Given the description of an element on the screen output the (x, y) to click on. 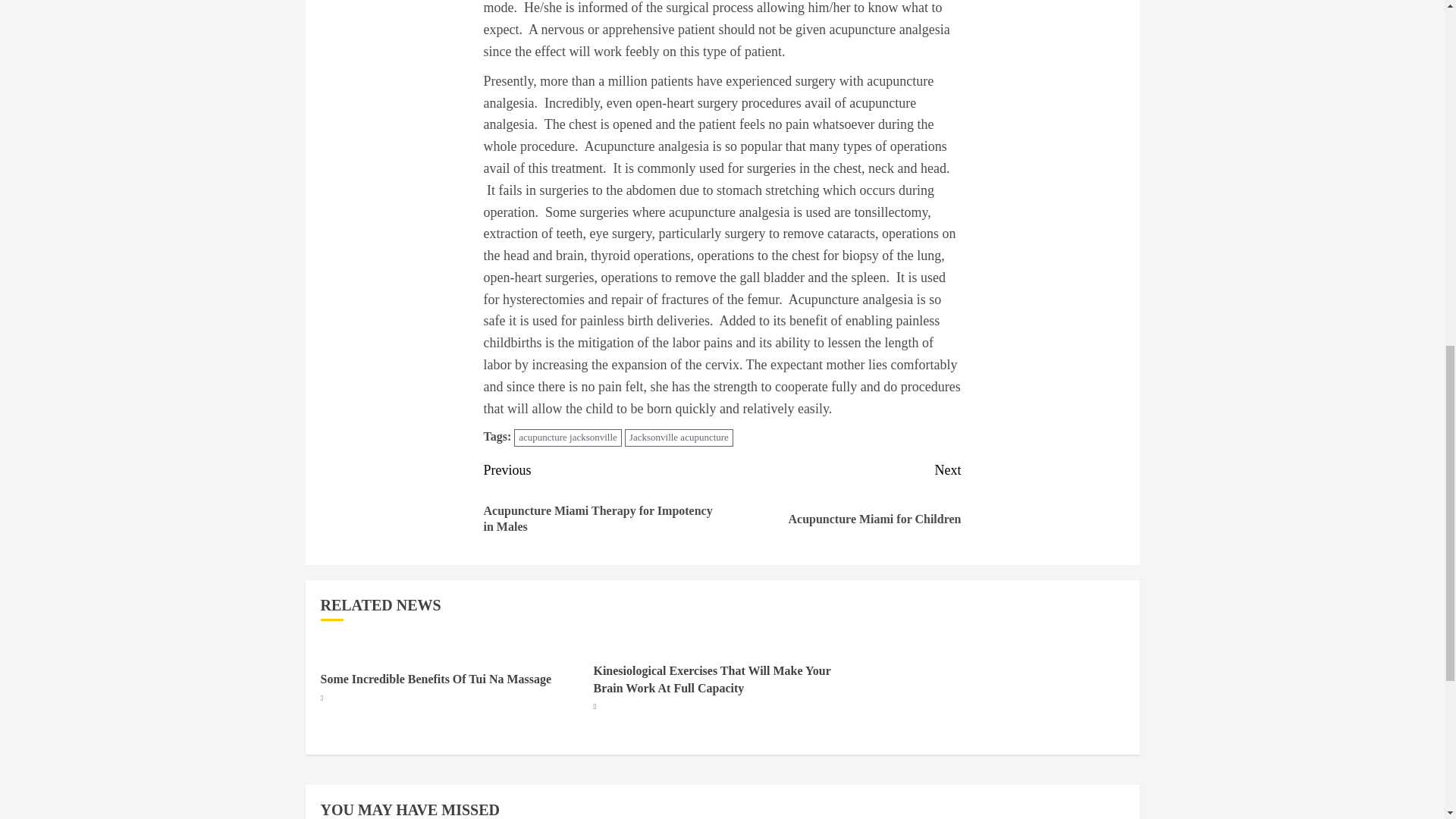
Jacksonville acupuncture (678, 437)
acupuncture jacksonville (841, 504)
Some Incredible Benefits Of Tui Na Massage (567, 437)
